Given the description of an element on the screen output the (x, y) to click on. 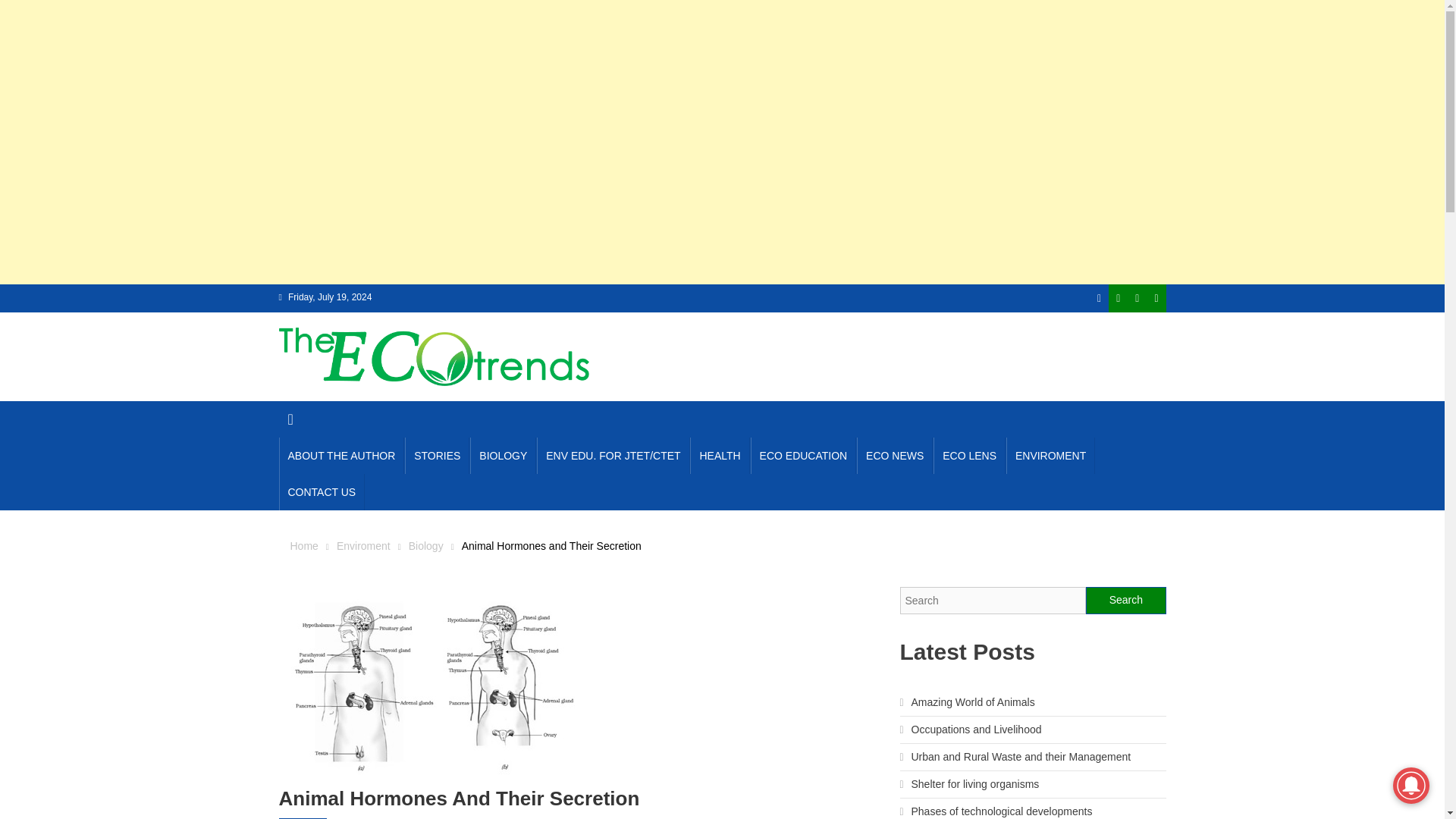
ENVIROMENT (1050, 455)
Biology (426, 545)
ECO NEWS (895, 455)
ABOUT THE AUTHOR (341, 455)
Home (303, 545)
BIOLOGY (502, 455)
ECO EDUCATION (804, 455)
ECO LENS (969, 455)
Biology (302, 818)
HEALTH (719, 455)
Advertisement (721, 36)
STORIES (436, 455)
Enviroment (363, 545)
